Given the description of an element on the screen output the (x, y) to click on. 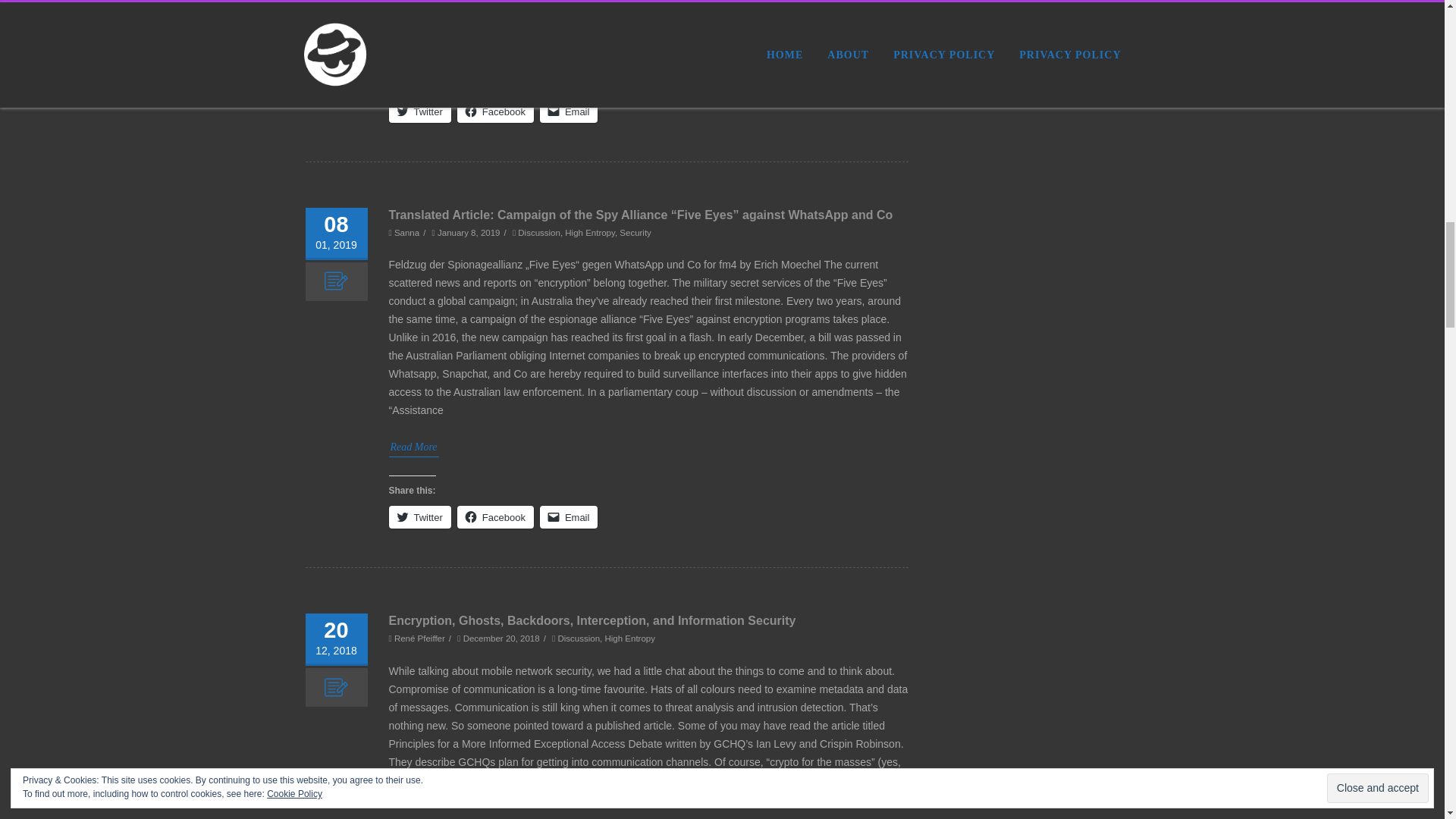
Click to share on Twitter (418, 110)
Read More (413, 41)
